Given the description of an element on the screen output the (x, y) to click on. 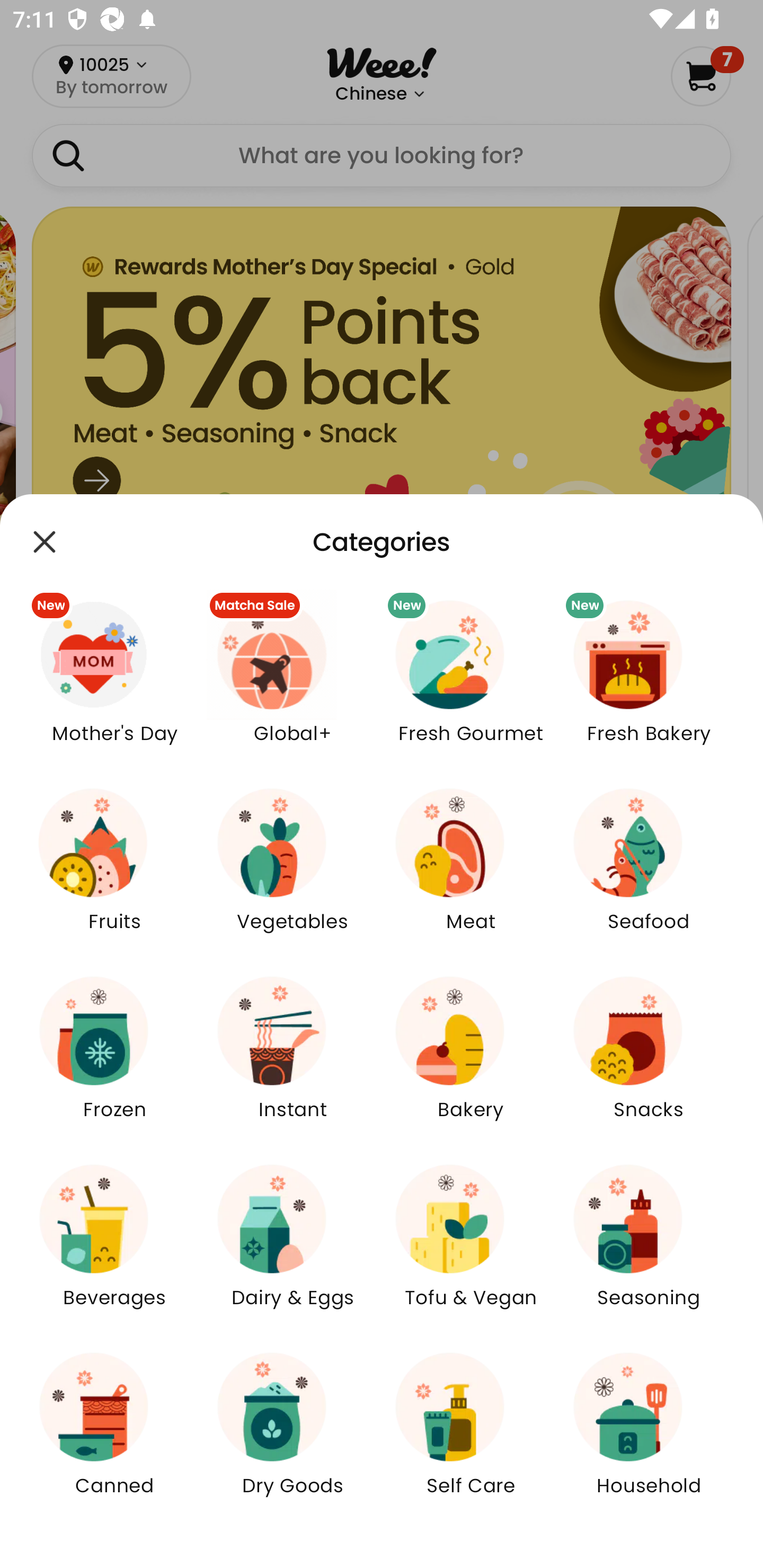
New Mother's Day (114, 683)
Matcha Sale Global+ (292, 683)
New Fresh Gourmet (470, 683)
New Fresh Bakery (648, 683)
Fruits (114, 871)
Vegetables (292, 871)
Meat (470, 871)
Seafood (648, 871)
Frozen (114, 1059)
Instant (292, 1059)
Bakery (470, 1059)
Snacks (648, 1059)
Beverages (114, 1248)
Dairy & Eggs (292, 1248)
Tofu & Vegan (470, 1248)
Seasoning (648, 1248)
Canned (114, 1436)
Dry Goods (292, 1436)
Self Care (470, 1436)
Household (648, 1436)
